Given the description of an element on the screen output the (x, y) to click on. 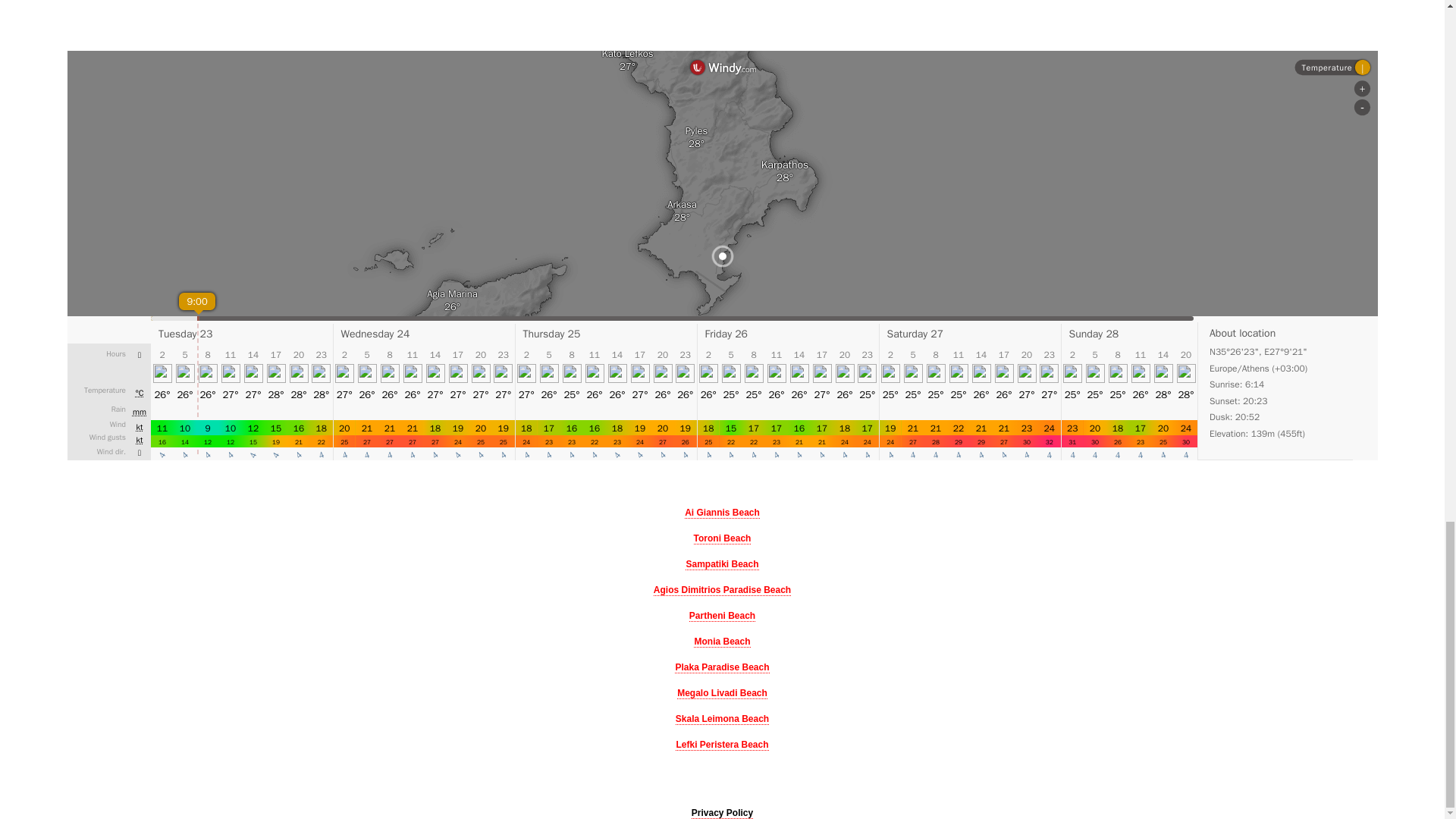
Ai Giannis Beach (722, 512)
Sampatiki Beach (721, 564)
Megalo Livadi Beach (722, 693)
Toroni Beach (722, 538)
Lefki Peristera Beach (721, 745)
Partheni Beach (721, 615)
Skala Leimona Beach (721, 718)
Agios Dimitrios Paradise Beach (721, 590)
Monia Beach (721, 641)
Plaka Paradise Beach (721, 667)
